Given the description of an element on the screen output the (x, y) to click on. 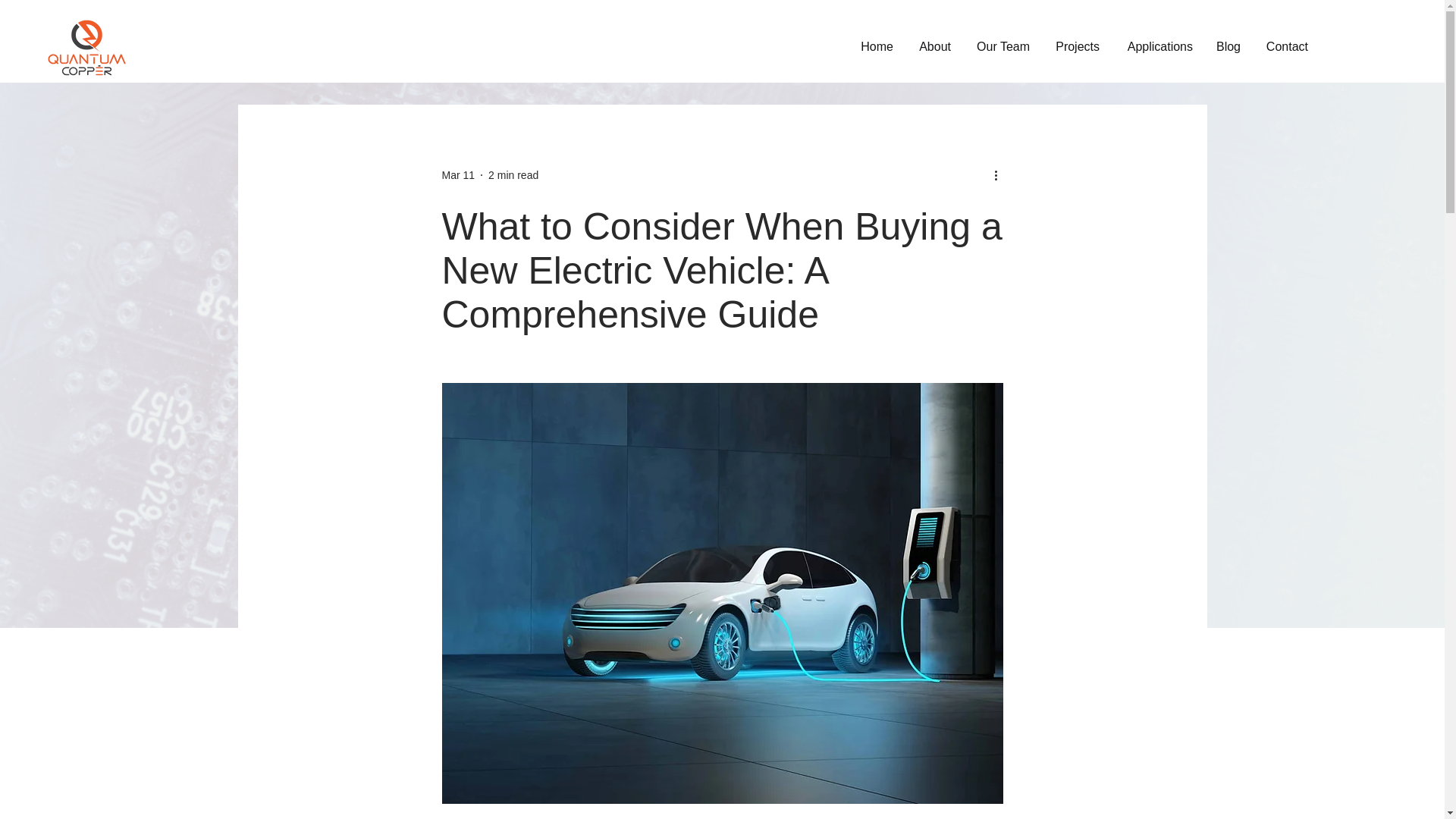
Applications (1157, 46)
2 min read (512, 174)
Contact (1285, 46)
Mar 11 (457, 174)
Blog (1228, 46)
Home (875, 46)
About (933, 46)
Our Team (1001, 46)
